Given the description of an element on the screen output the (x, y) to click on. 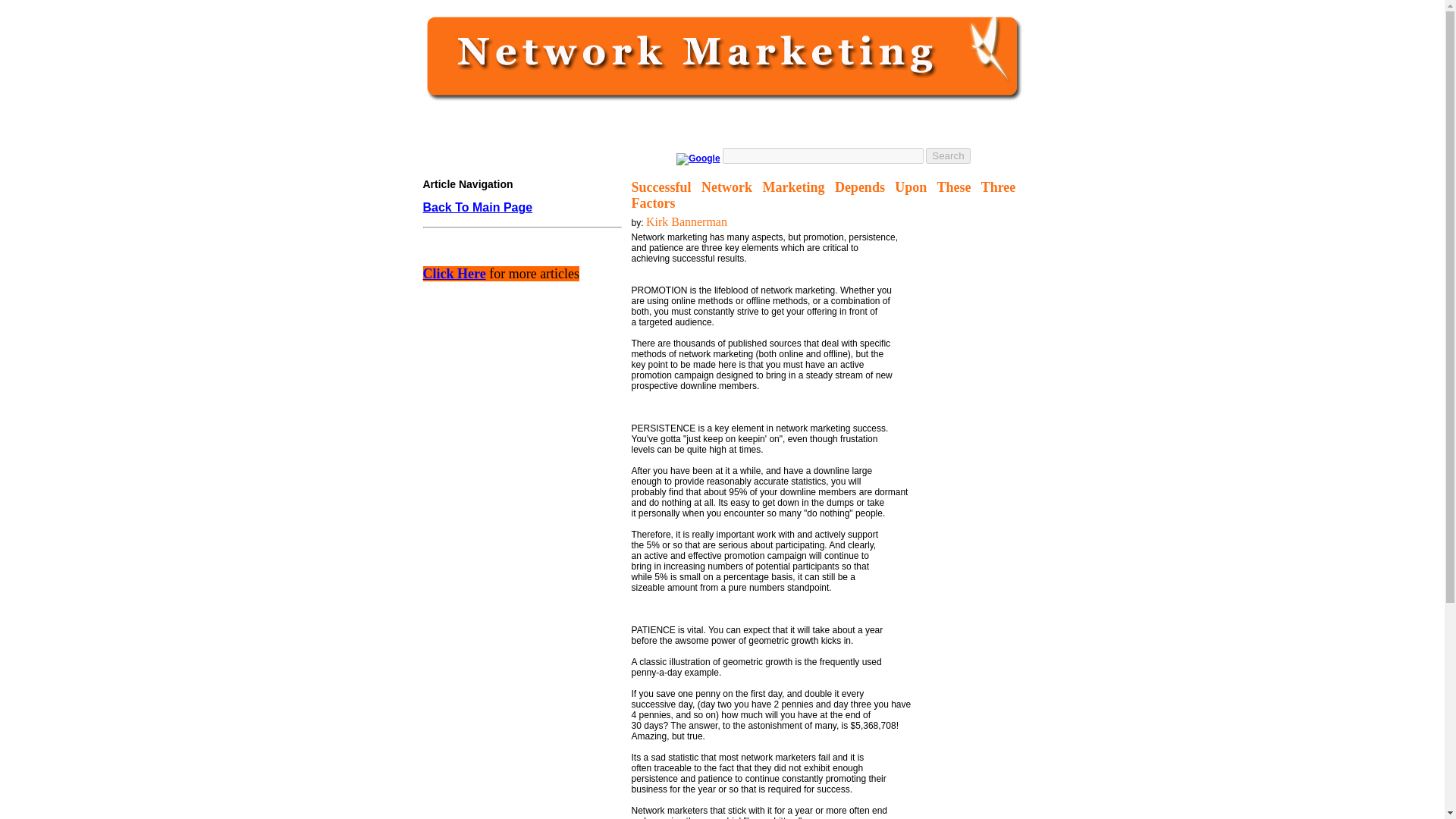
Back To Main Page (477, 207)
Search (947, 154)
Search (947, 154)
Click Here (454, 273)
